Given the description of an element on the screen output the (x, y) to click on. 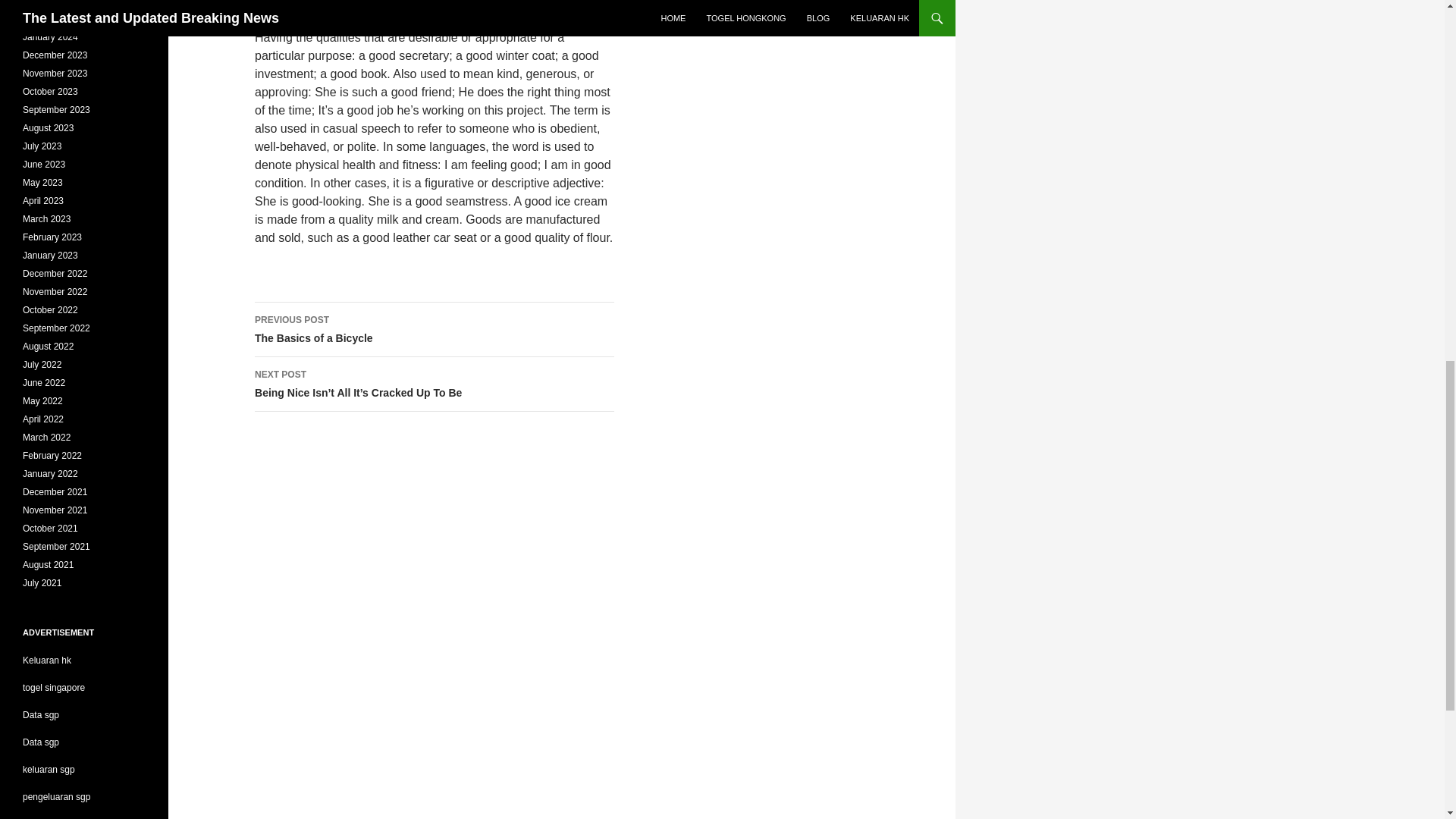
March 2024 (434, 329)
November 2023 (46, 2)
February 2024 (55, 72)
December 2023 (52, 18)
September 2023 (55, 54)
October 2023 (56, 109)
January 2024 (50, 91)
